Given the description of an element on the screen output the (x, y) to click on. 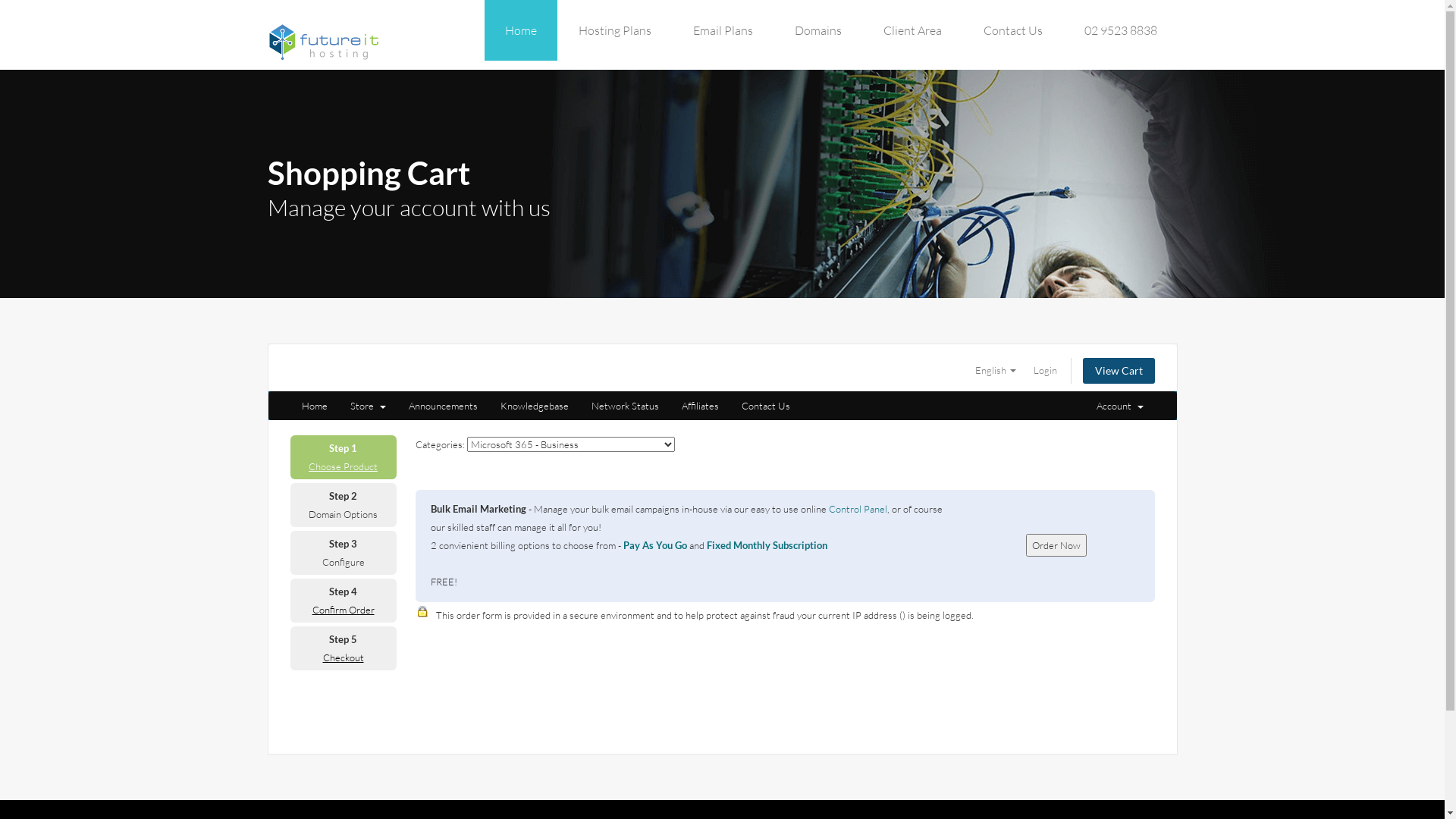
Contact Us Element type: text (764, 405)
Knowledgebase Element type: text (533, 405)
Announcements Element type: text (443, 405)
Account   Element type: text (1119, 405)
Confirm Order Element type: text (343, 609)
Email Plans Element type: text (721, 30)
Login Element type: text (1044, 369)
Domains Element type: text (817, 30)
Choose Product Element type: text (342, 466)
Fixed Monthly Subscription Element type: text (766, 545)
English Element type: text (995, 369)
Store   Element type: text (367, 405)
Home Element type: text (313, 405)
Home Element type: text (519, 30)
View Cart Element type: text (1118, 370)
Control Panel Element type: text (857, 508)
Contact Us Element type: text (1013, 30)
Hosting Plans Element type: text (614, 30)
Client Area Element type: text (912, 30)
Pay As You Go Element type: text (655, 545)
Network Status Element type: text (624, 405)
02 9523 8838 Element type: text (1119, 30)
Order Now Element type: text (1056, 544)
Checkout Element type: text (343, 657)
Affiliates Element type: text (700, 405)
